Given the description of an element on the screen output the (x, y) to click on. 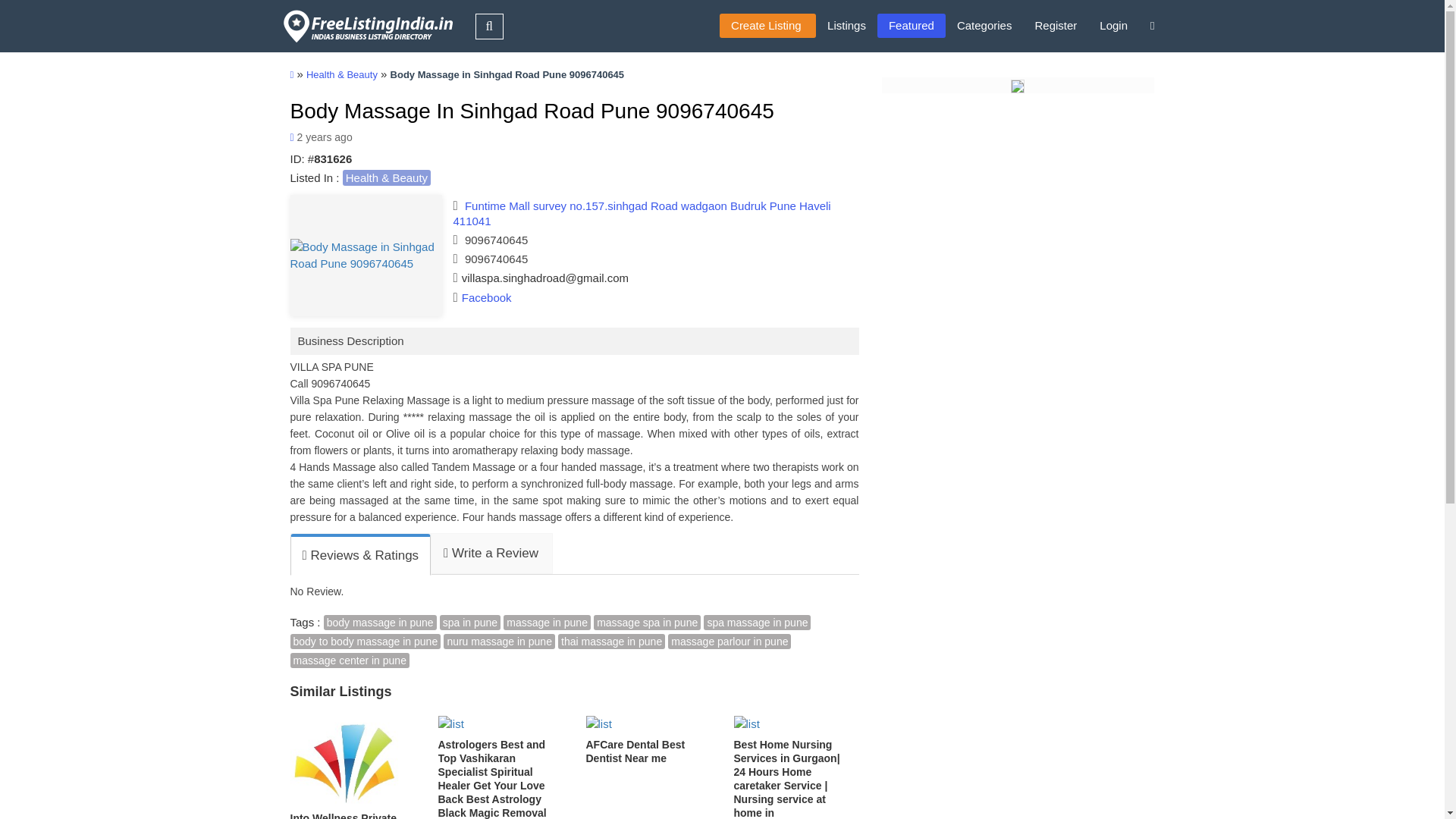
spa in pune (469, 622)
Listings (846, 25)
Write a Review (490, 553)
Create Listing (767, 25)
Body Massage in Sinhgad Road Pune 9096740645 (365, 255)
Login (1112, 25)
body to body massage in pune (365, 641)
FreeListingIndia logo (369, 25)
9096740645 (495, 258)
